Given the description of an element on the screen output the (x, y) to click on. 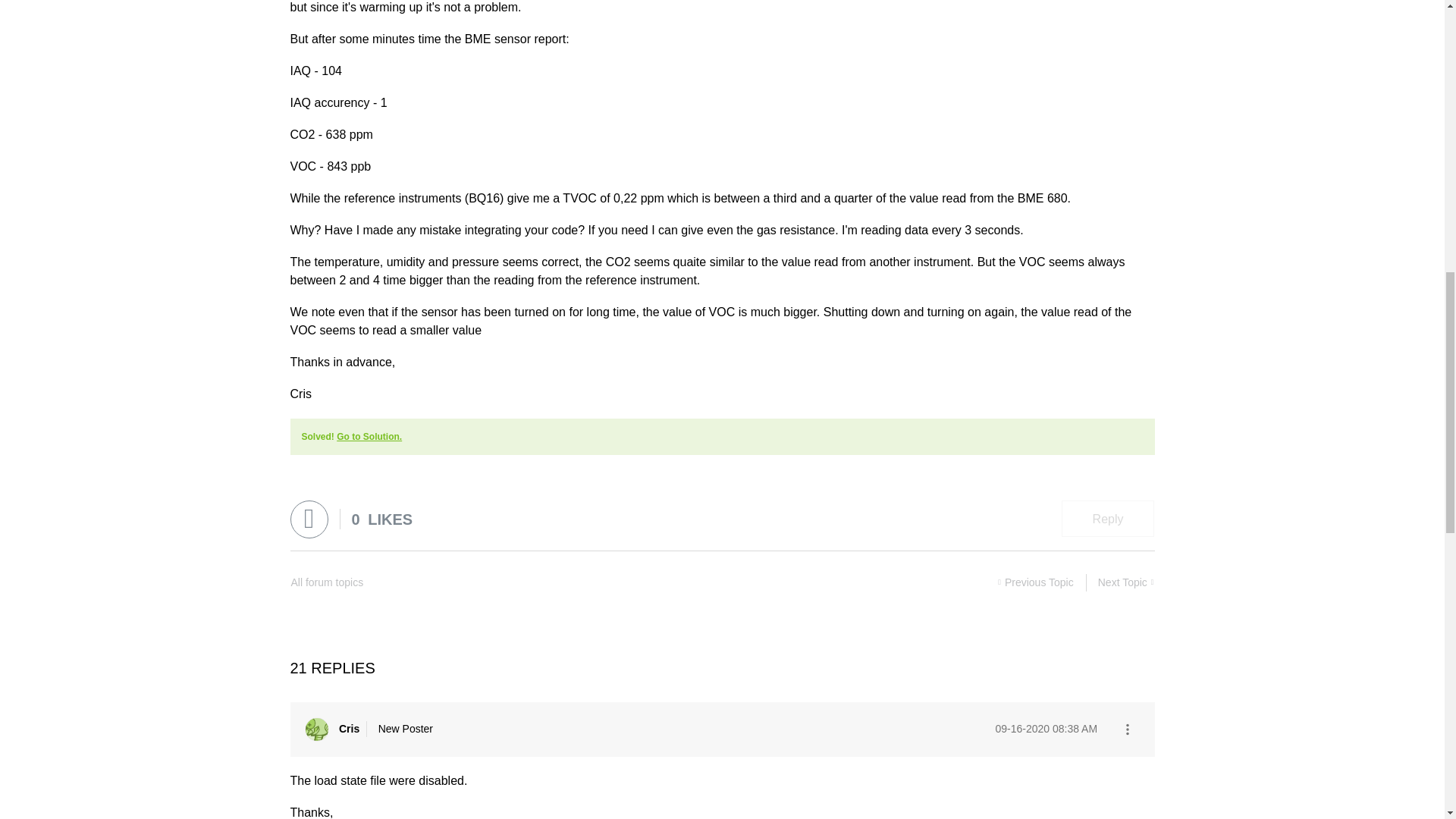
The total number of likes this post has received. (382, 519)
Click here to give likes to this post. (308, 519)
